Given the description of an element on the screen output the (x, y) to click on. 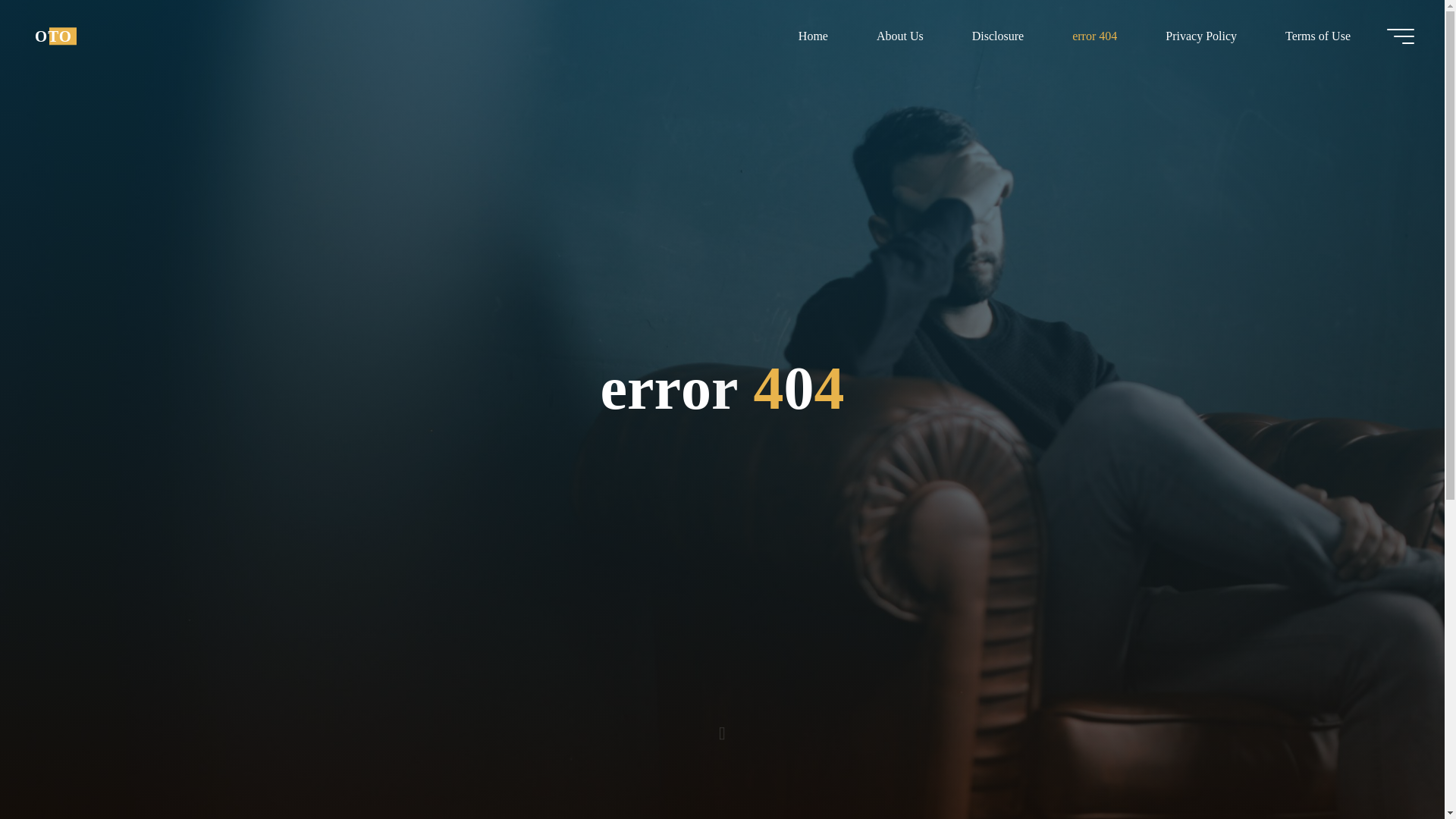
Privacy Policy (1200, 35)
OTO (53, 36)
Read more (721, 724)
Home (812, 35)
Terms of Use (1317, 35)
error 404 (1094, 35)
Disclosure (997, 35)
About Us (899, 35)
